Given the description of an element on the screen output the (x, y) to click on. 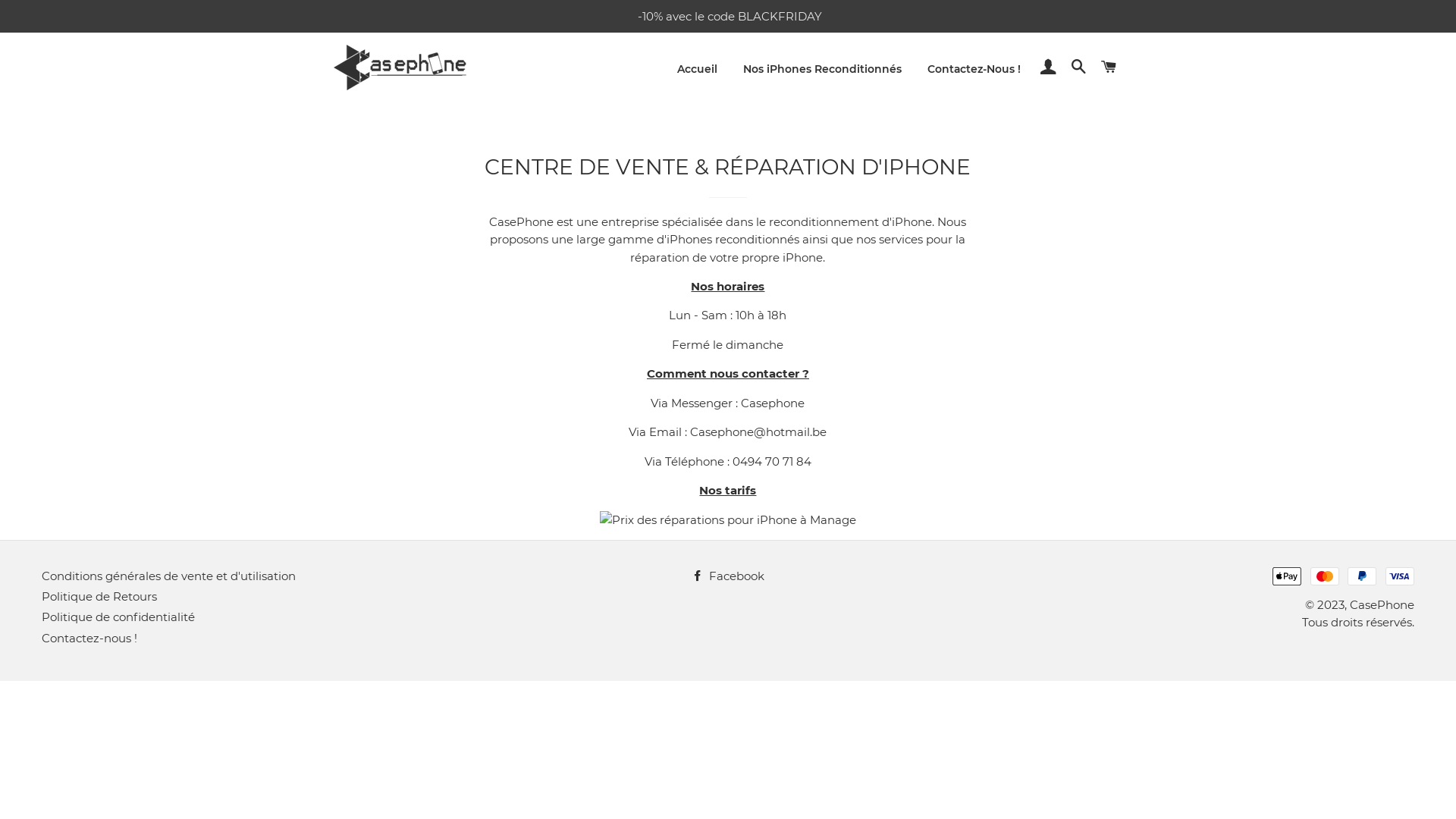
Politique de Retours Element type: text (98, 596)
Accueil Element type: text (696, 69)
Rechercher Element type: text (1078, 67)
Contactez-nous ! Element type: text (89, 637)
CasePhone Element type: text (1381, 604)
Contactez-Nous ! Element type: text (974, 69)
Se connecter Element type: text (1048, 67)
Facebook Element type: text (727, 575)
